Given the description of an element on the screen output the (x, y) to click on. 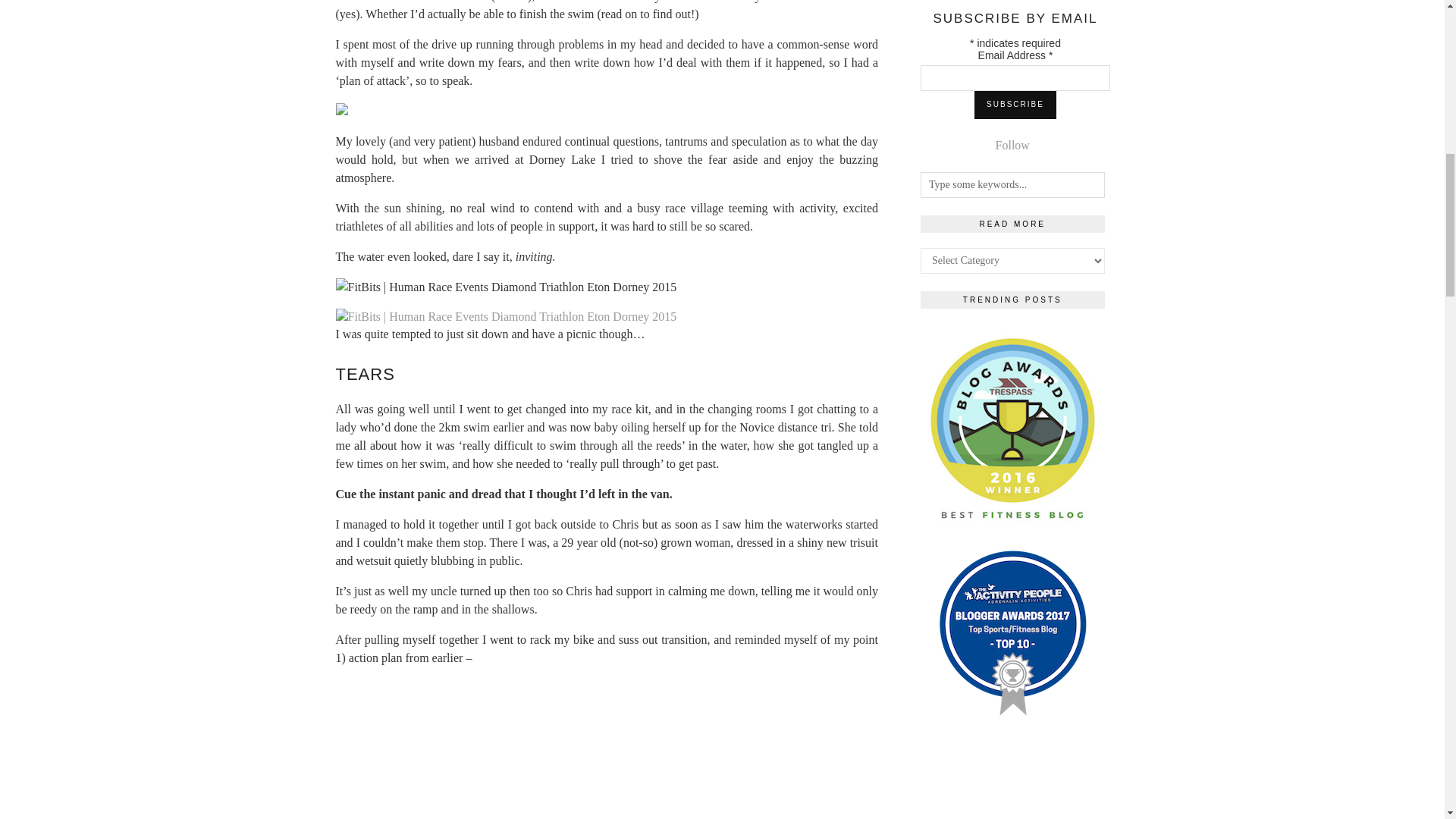
Subscribe (1015, 103)
